Given the description of an element on the screen output the (x, y) to click on. 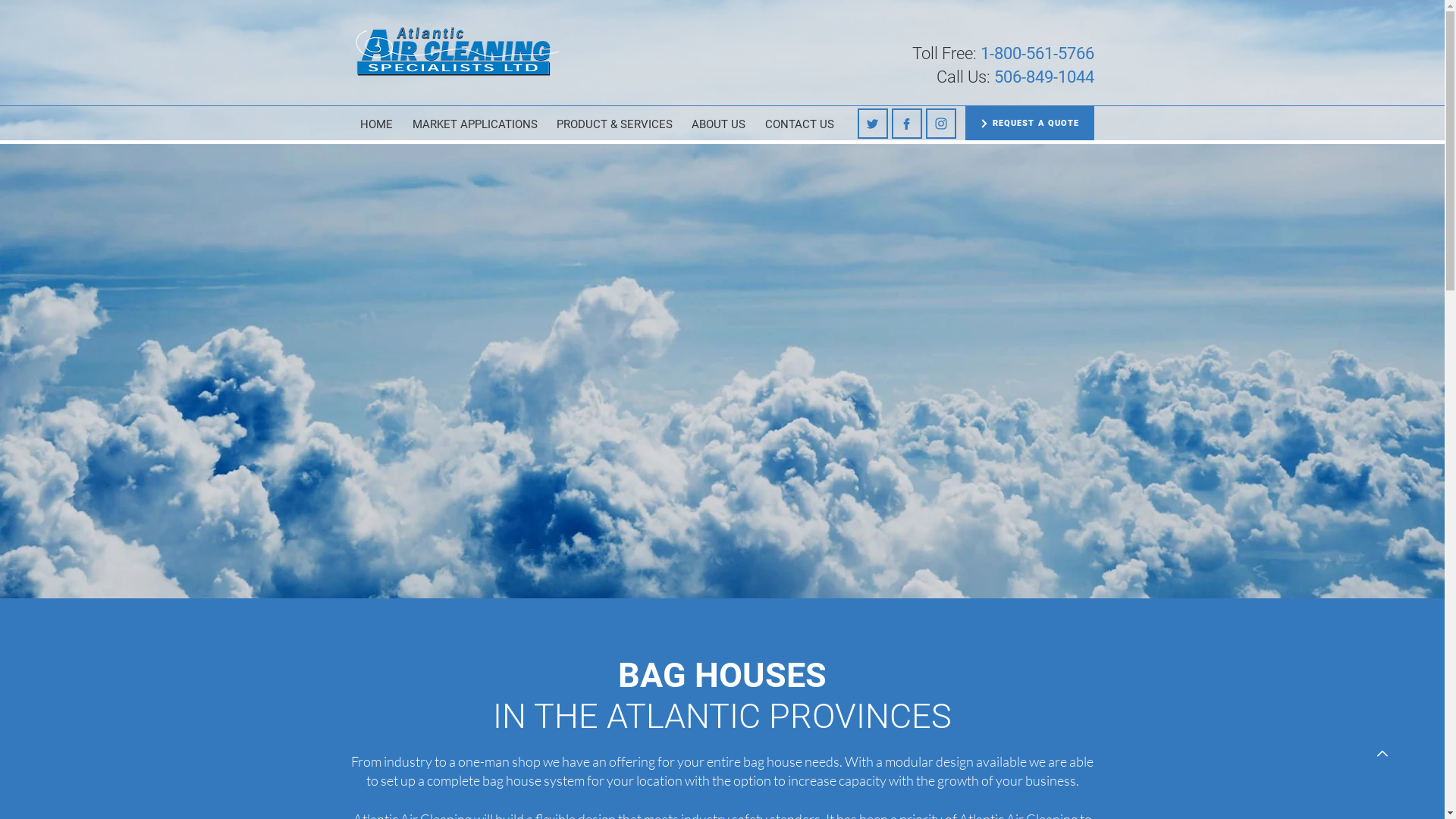
506-849-1044 Element type: text (1043, 76)
1-800-561-5766 Element type: text (1036, 52)
REQUEST A QUOTE Element type: text (1028, 123)
HOME Element type: text (375, 124)
CONTACT US Element type: text (799, 124)
